Given the description of an element on the screen output the (x, y) to click on. 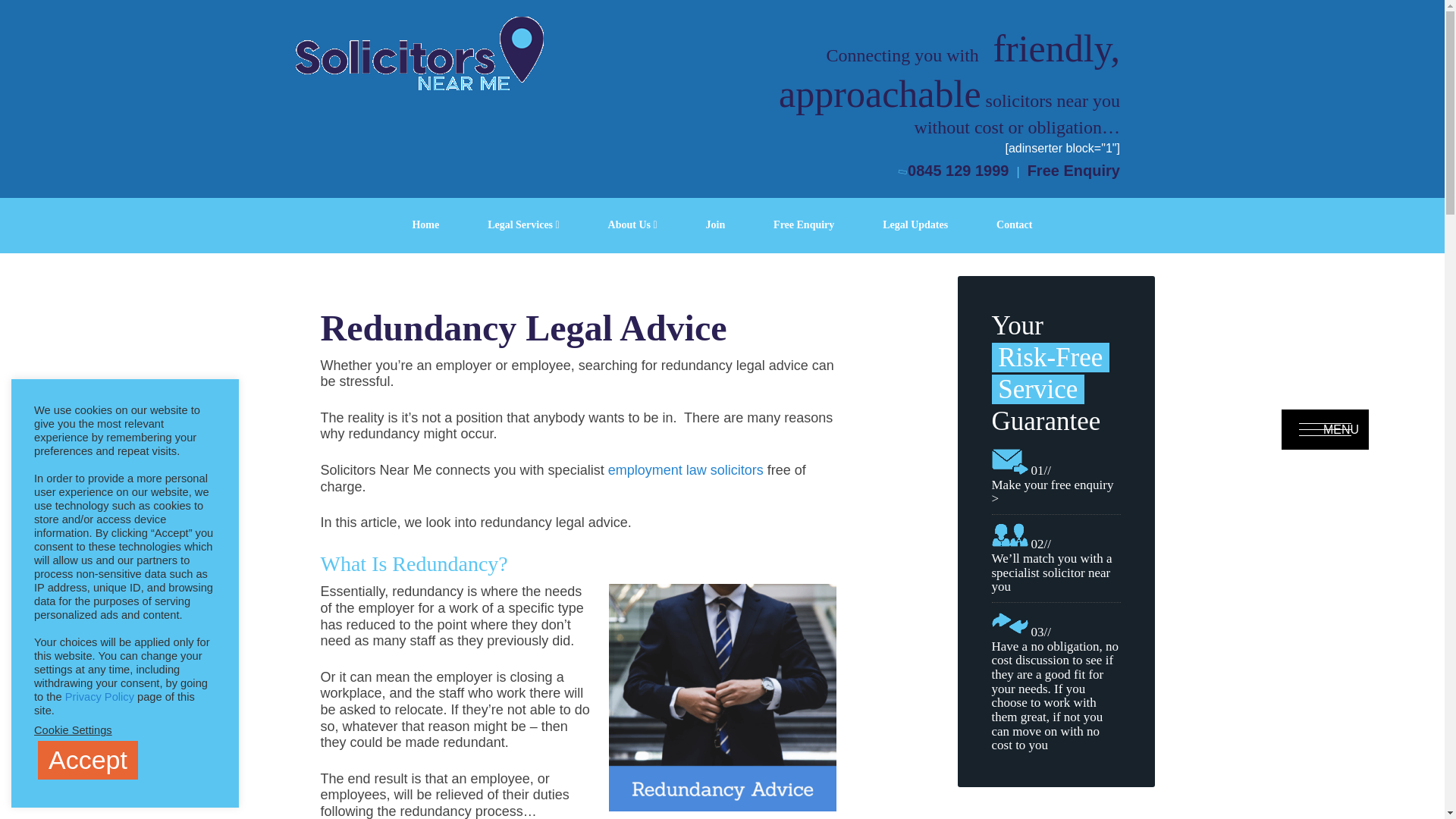
Redundancy Advice (721, 697)
Chat Invitation (1322, 679)
